Given the description of an element on the screen output the (x, y) to click on. 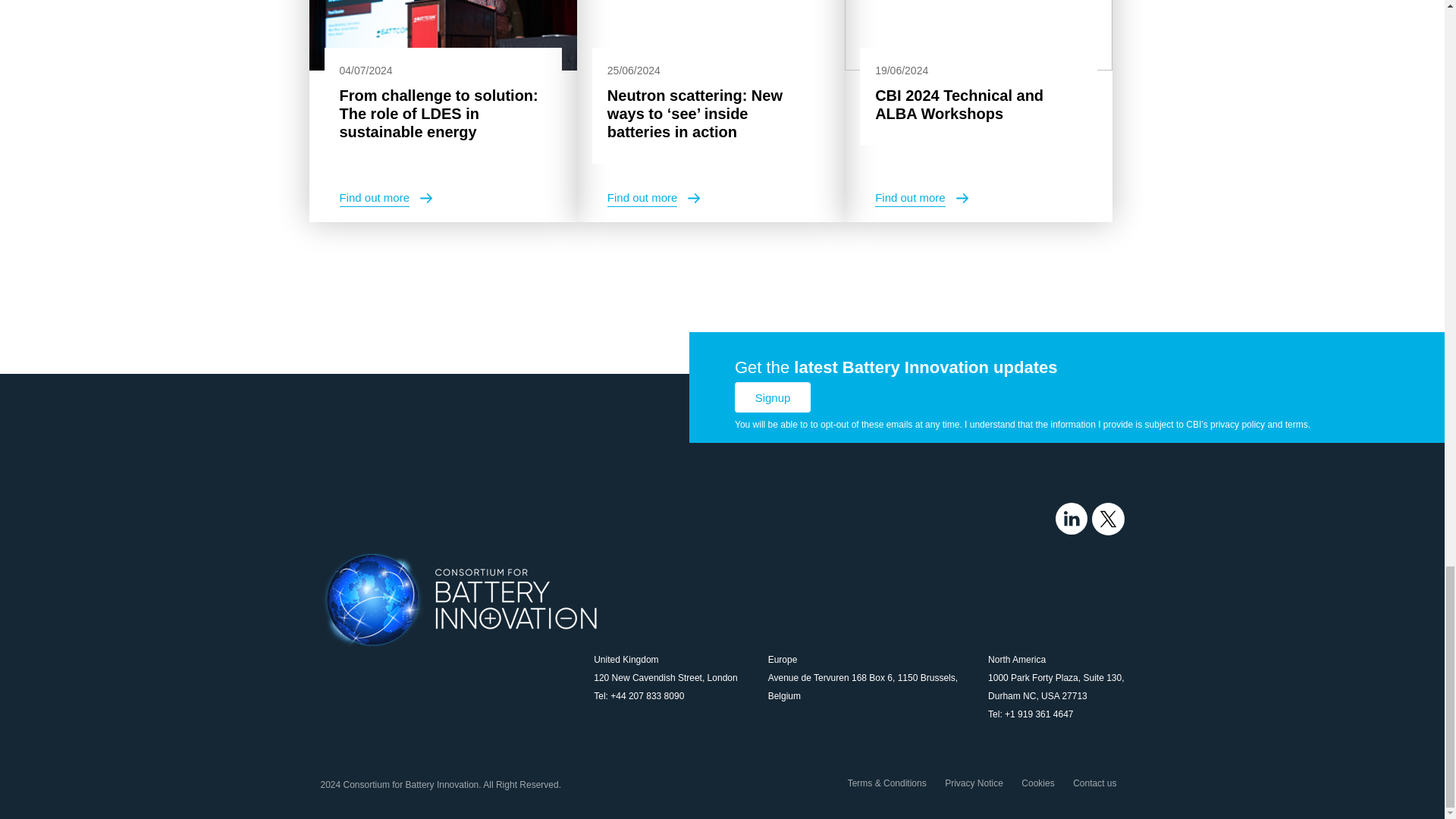
Find out more (921, 198)
Find out more (653, 198)
Signup (772, 397)
Find out more (385, 198)
